Given the description of an element on the screen output the (x, y) to click on. 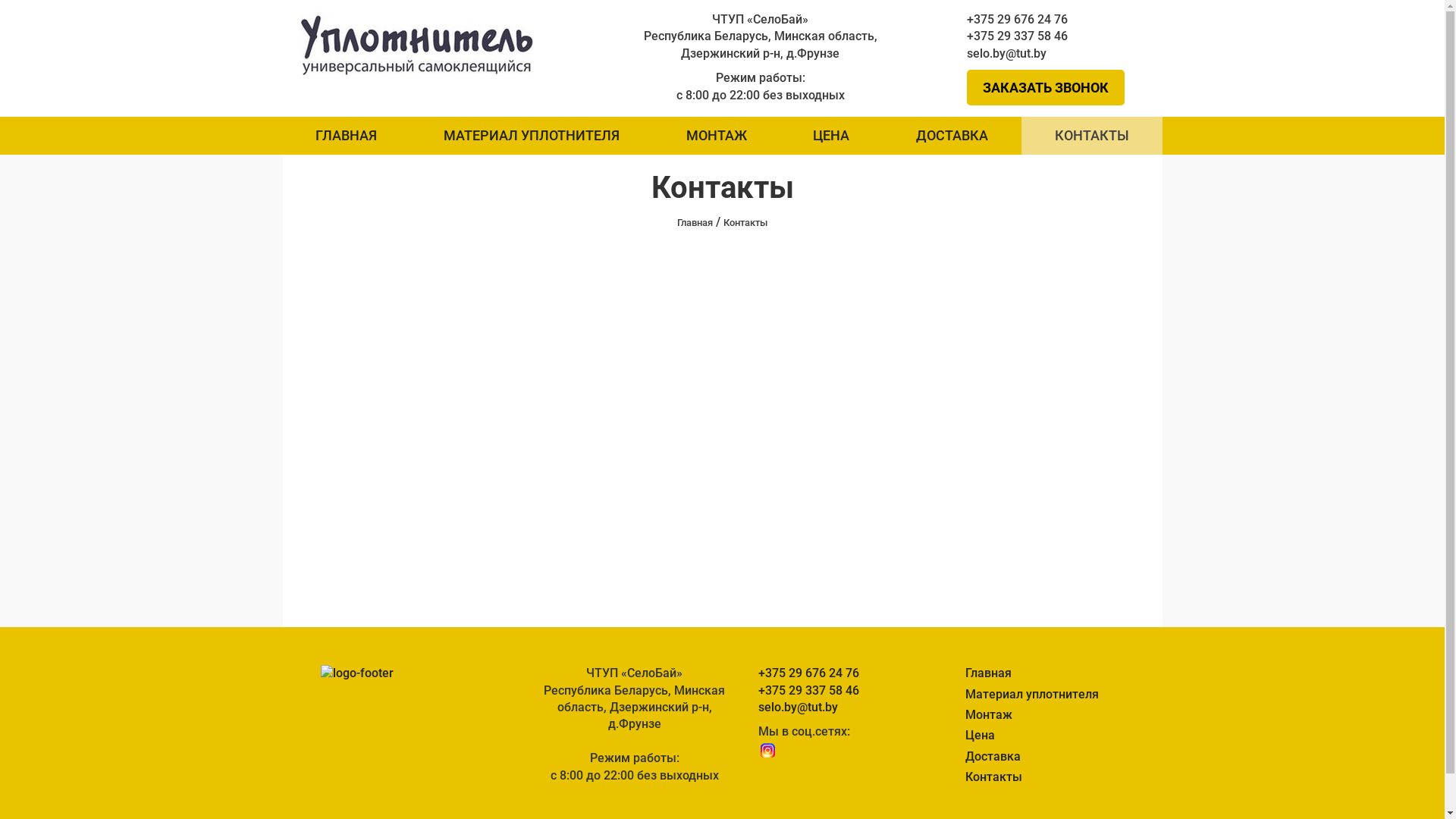
+375 29 676 24 76 Element type: text (834, 673)
+375 29 676 24 76 Element type: text (1055, 19)
selo.by@tut.by Element type: text (1055, 53)
+375 29 337 58 46 Element type: text (834, 690)
selo.by@tut.by Element type: text (834, 707)
plotno.by Element type: hover (416, 43)
+375 29 337 58 46 Element type: text (1055, 36)
plotno.by Element type: hover (416, 42)
